Given the description of an element on the screen output the (x, y) to click on. 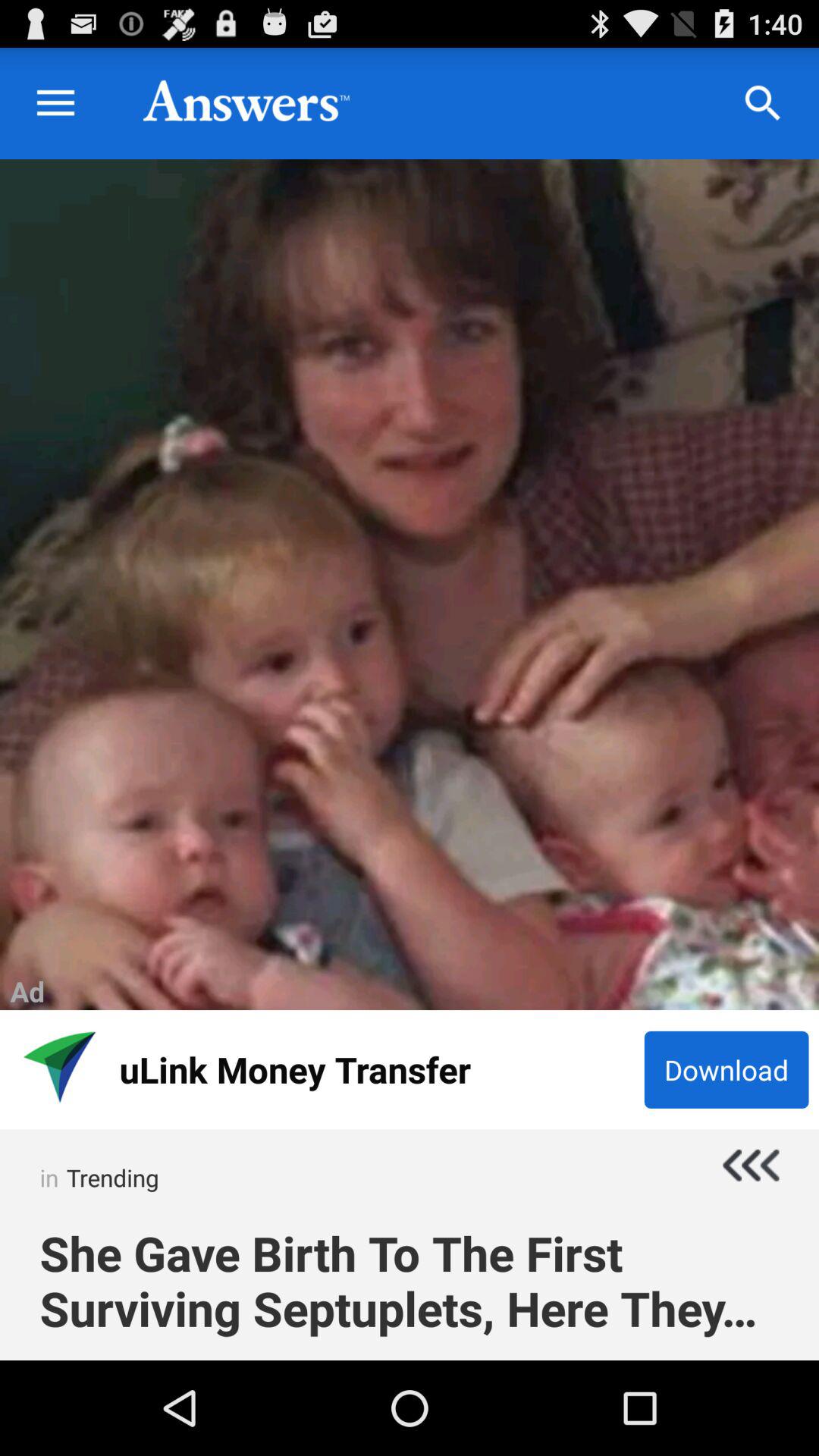
select the search icon which is on the top right corner of the page (763, 103)
select previous button which is below download button on the page (732, 1165)
click on the text ad (27, 991)
click on the text ulink money transfer (376, 1069)
